Given the description of an element on the screen output the (x, y) to click on. 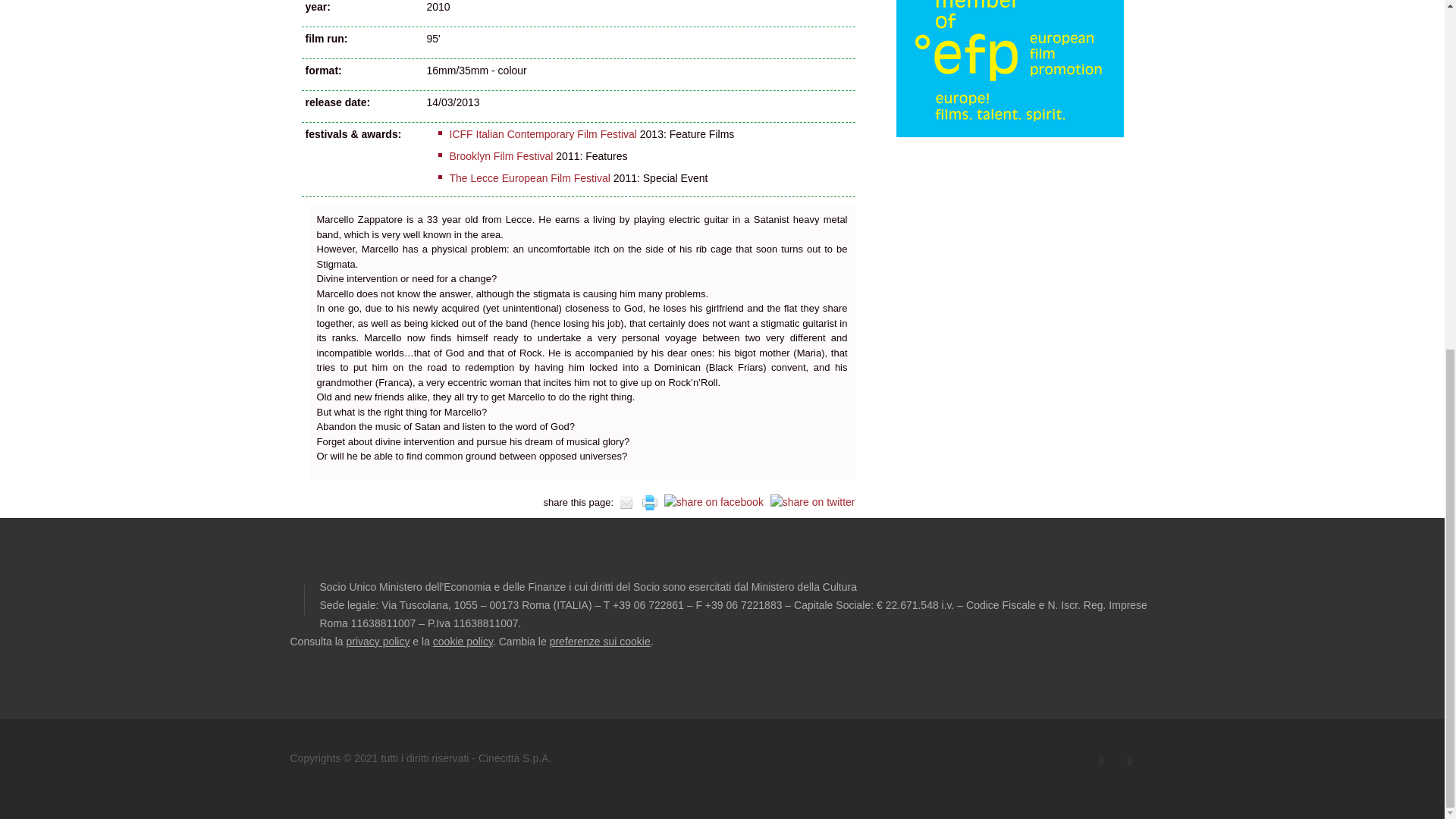
share by email (627, 501)
share on facebook (712, 501)
share on twitter (813, 501)
print this page (650, 501)
